Given the description of an element on the screen output the (x, y) to click on. 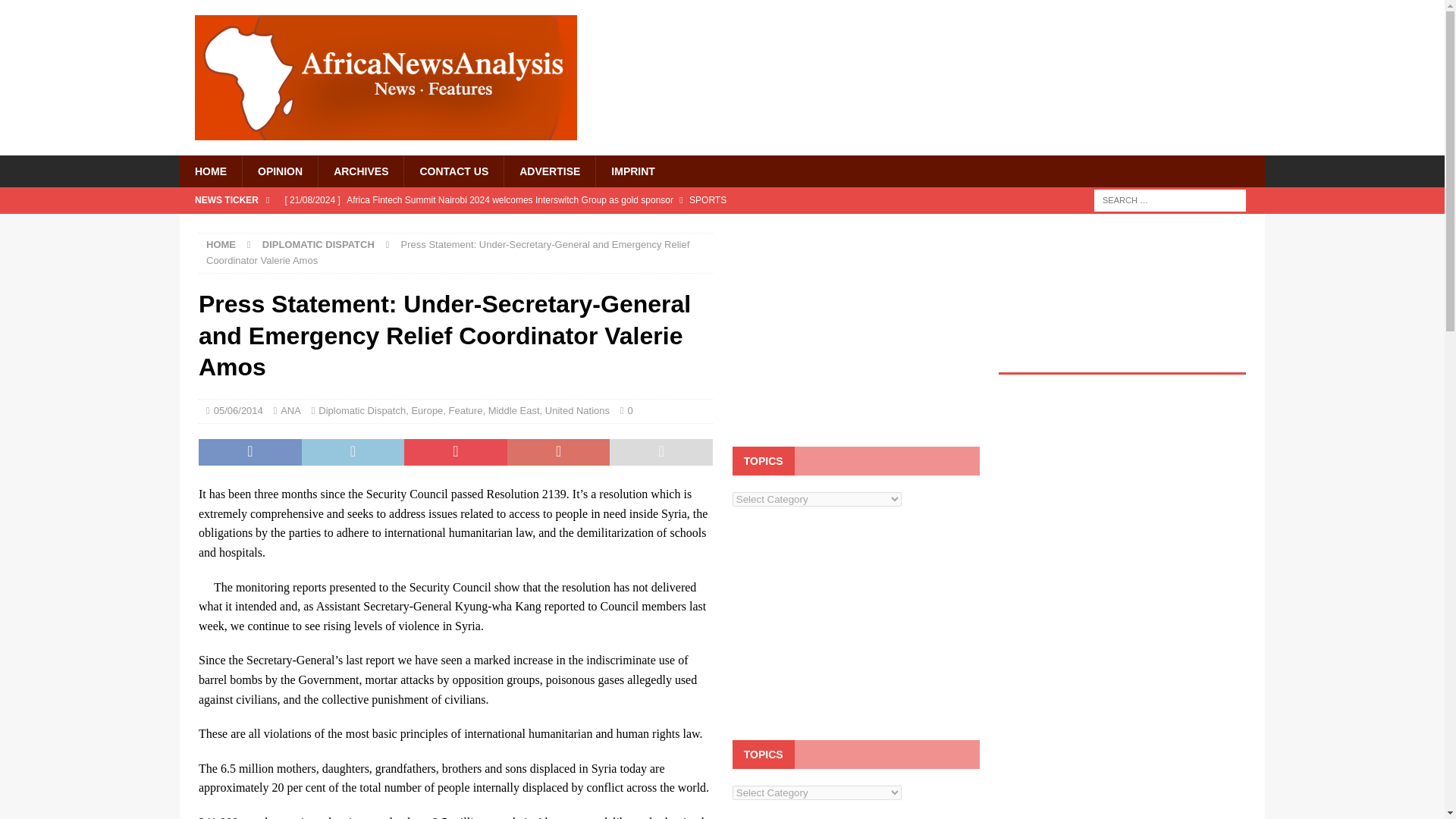
HOME (210, 171)
ANA (291, 410)
Europe (426, 410)
ADVERTISE (549, 171)
United Nations (577, 410)
DIPLOMATIC DISPATCH (318, 244)
HOME (220, 244)
Feature (465, 410)
ARCHIVES (360, 171)
Diplomatic Dispatch (362, 410)
